Given the description of an element on the screen output the (x, y) to click on. 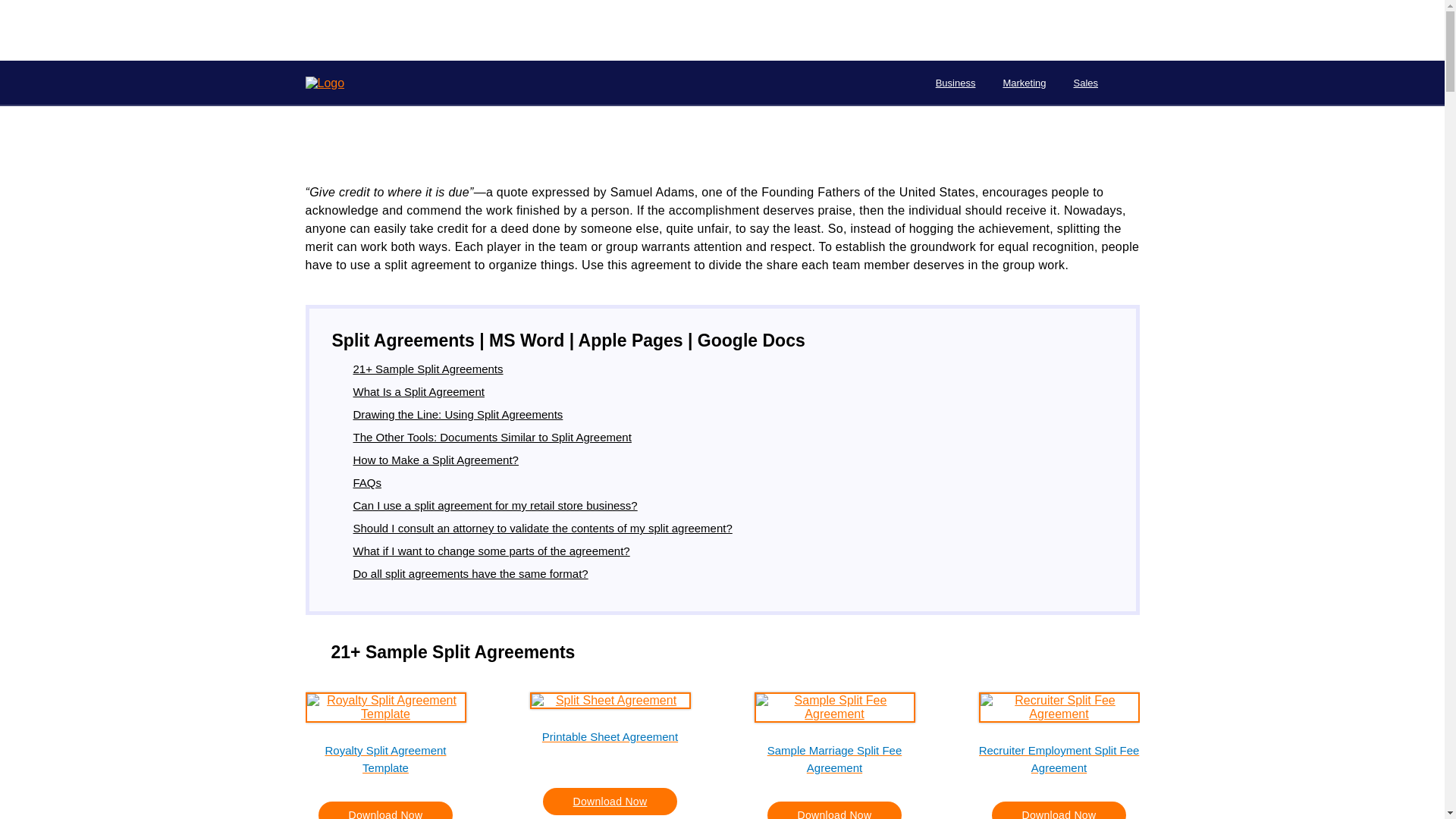
Printable Sheet Agreement (609, 744)
What Is a Split Agreement (418, 391)
Drawing the Line: Using Split Agreements (458, 414)
What if I want to change some parts of the agreement? (491, 550)
Sample Marriage Split Fee Agreement (834, 758)
Sales (1085, 83)
Download Now (834, 810)
Download Now (385, 810)
Royalty Split Agreement Template (384, 758)
The Other Tools: Documents Similar to Split Agreement (492, 436)
